Given the description of an element on the screen output the (x, y) to click on. 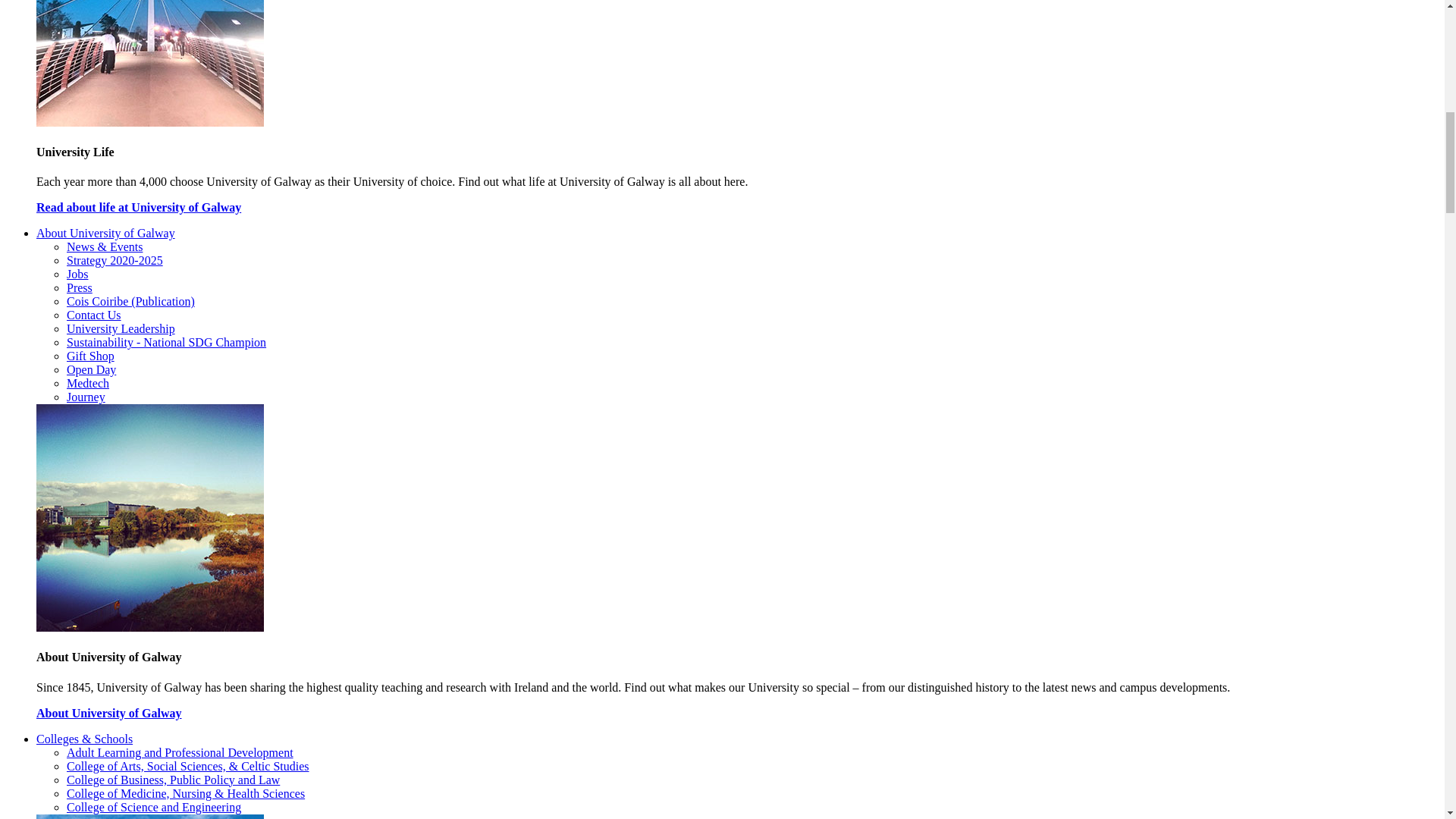
Jobs (76, 273)
About University of Galway (105, 232)
Sustainability - National SDG Champion (166, 341)
Read about life at University of Galway (138, 206)
Press (79, 287)
Strategy 2020-2025 (114, 259)
University Leadership (120, 328)
Contact Us (93, 314)
